Given the description of an element on the screen output the (x, y) to click on. 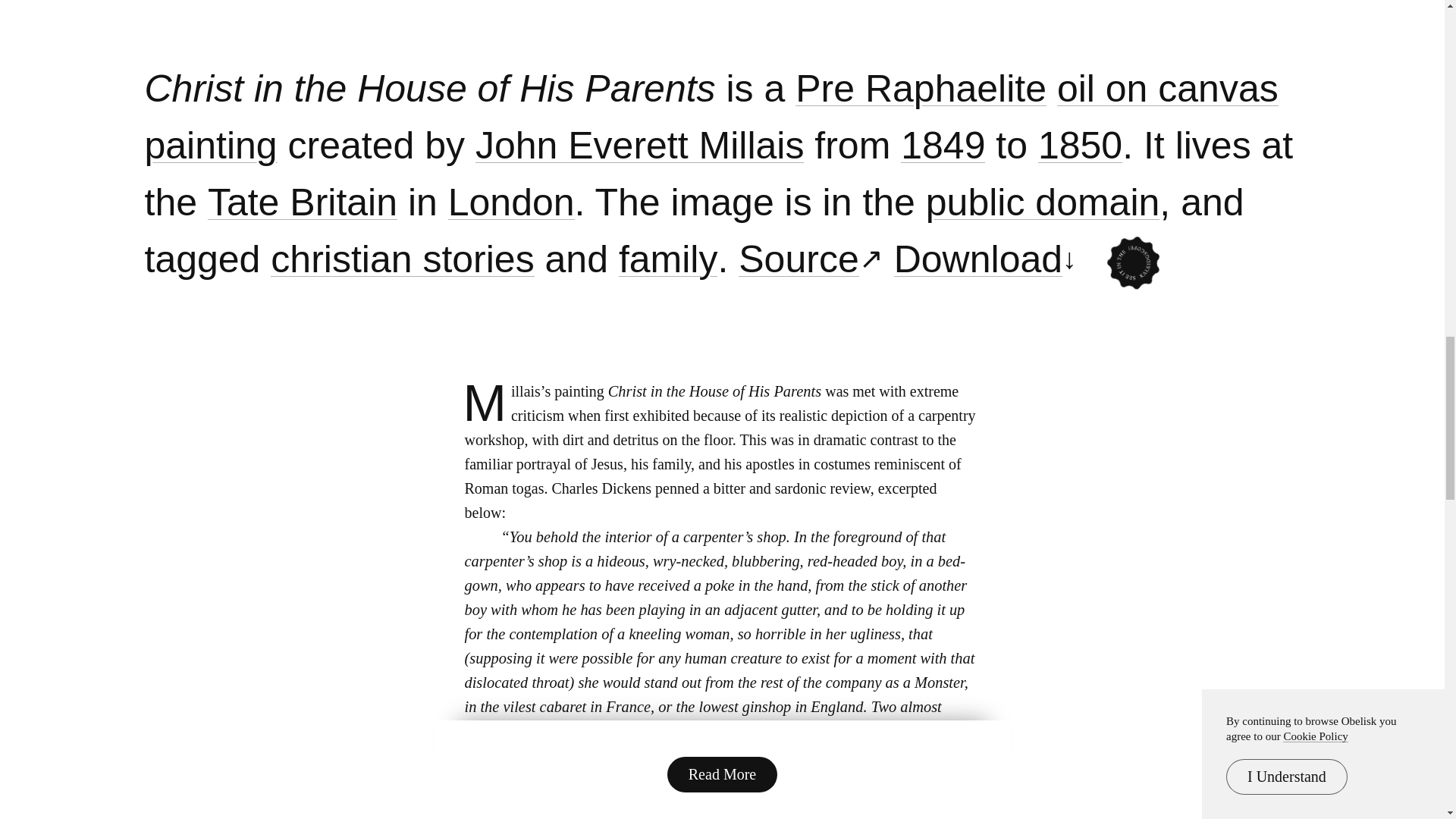
London (511, 202)
1849 (943, 145)
painting (210, 145)
Pre Raphaelite (920, 89)
Source (798, 259)
1850 (1080, 145)
oil on canvas (1167, 89)
public domain (1043, 202)
Tate Britain (302, 202)
John Everett Millais (640, 145)
christian stories (402, 259)
See Christ in the House of His Parents in the Kaleidoscope (1123, 251)
family (667, 259)
Download (977, 259)
